Given the description of an element on the screen output the (x, y) to click on. 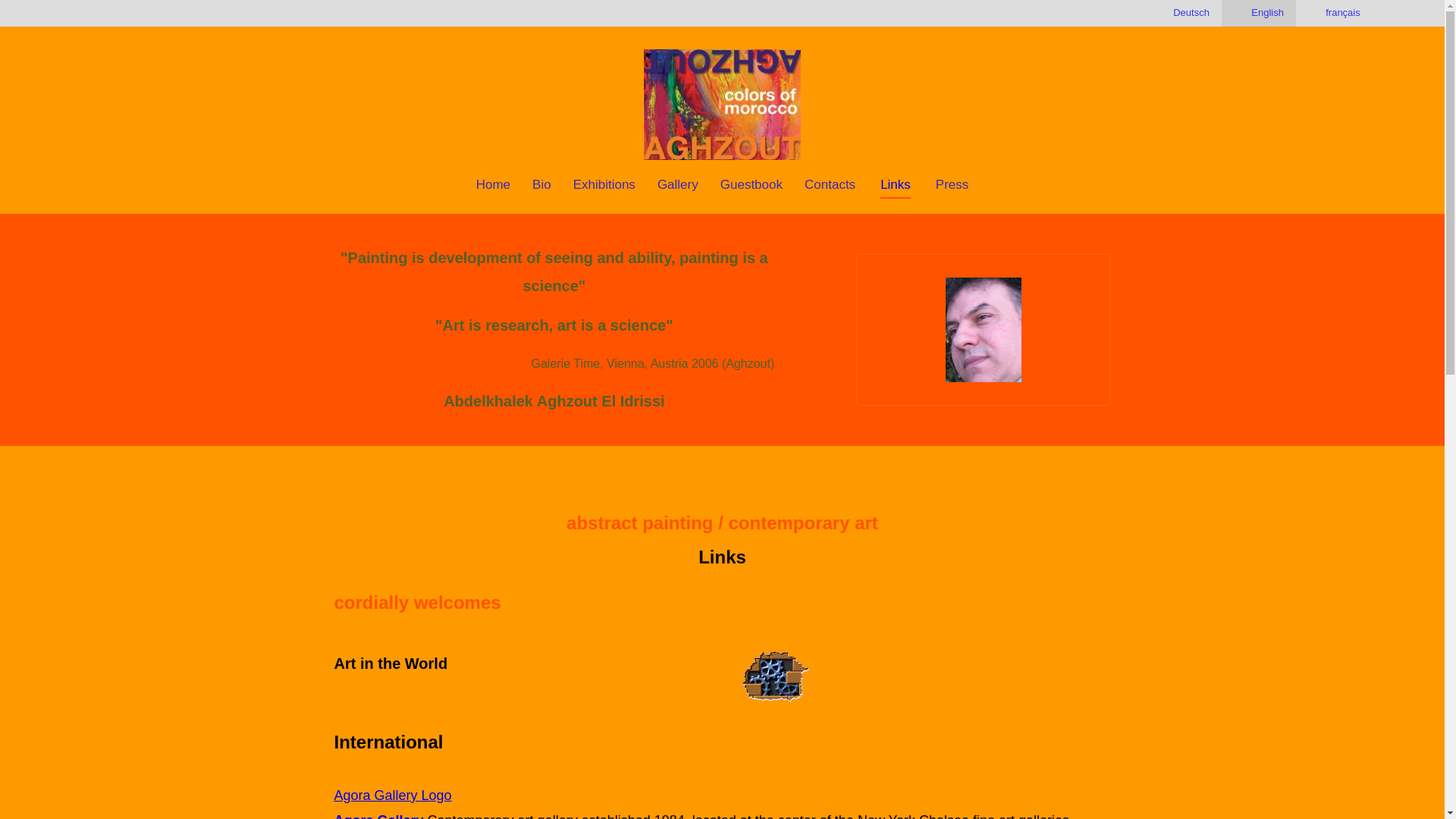
Agora Gallery Logo (392, 795)
Gallery (677, 184)
Guestbook (751, 184)
Press (951, 184)
Agora Gallery (378, 816)
Bio (541, 184)
Contacts (829, 184)
Links (895, 185)
Home (493, 184)
Exhibitions (604, 184)
